Given the description of an element on the screen output the (x, y) to click on. 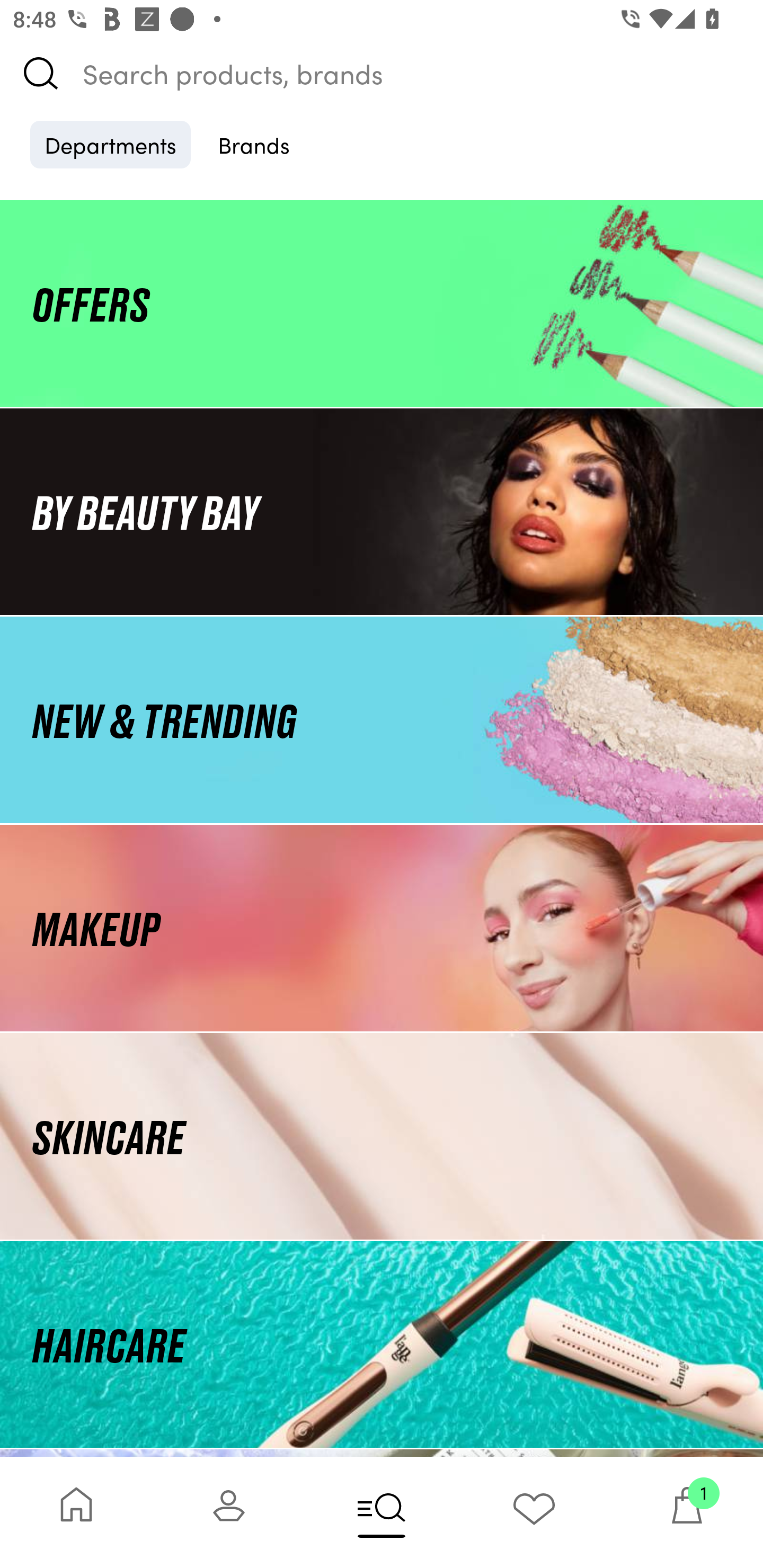
Search products, brands (381, 72)
Departments (110, 143)
Brands (253, 143)
OFFERS (381, 303)
BY BEAUTY BAY (381, 510)
NEW & TRENDING (381, 719)
MAKEUP (381, 927)
SKINCARE (381, 1136)
HAIRCARE (381, 1344)
1 (686, 1512)
